Given the description of an element on the screen output the (x, y) to click on. 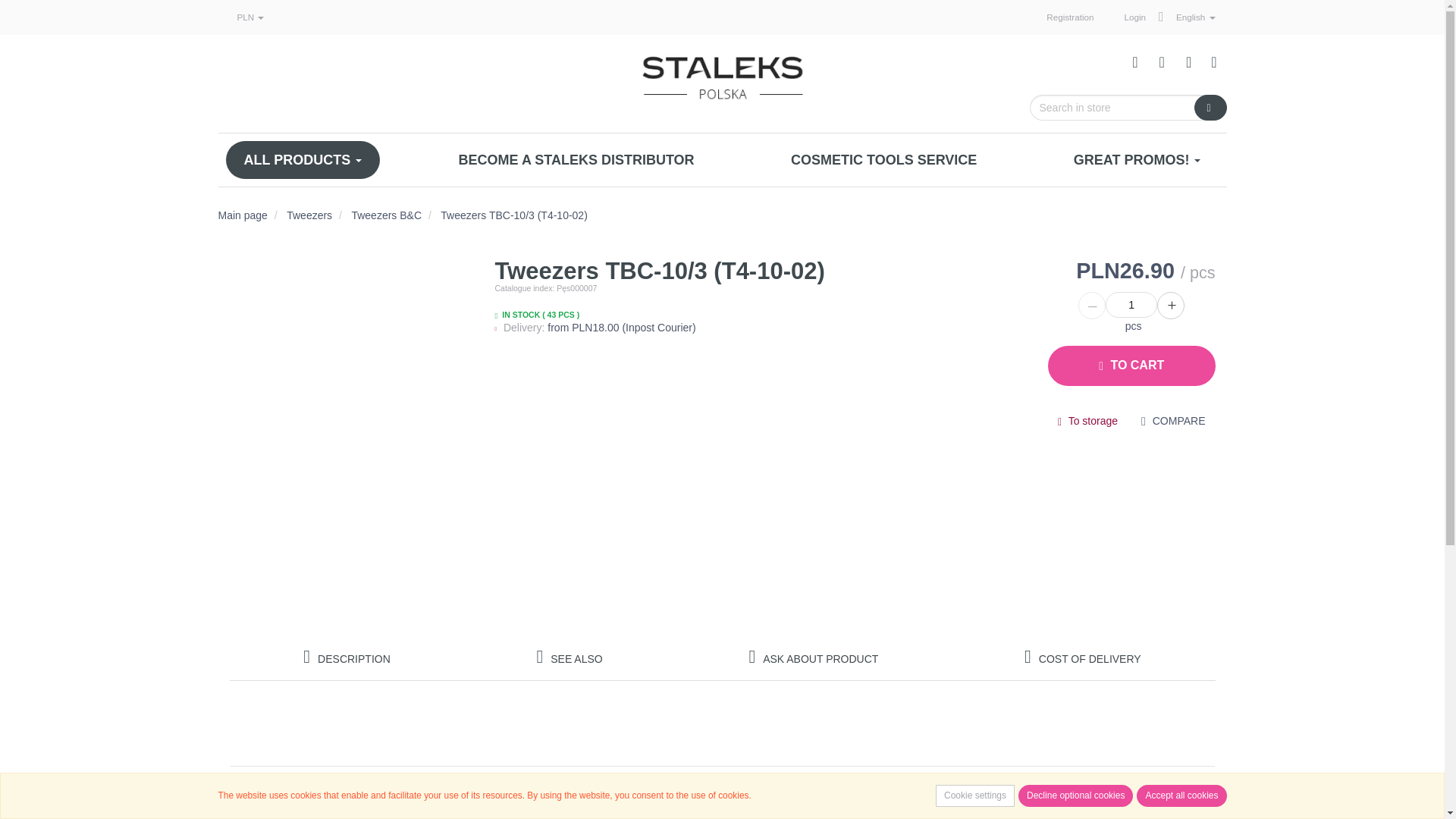
Product checker (1162, 59)
Search (1209, 107)
Become a STALEKS Distributor (577, 159)
ALL PRODUCTS (302, 159)
1 (1131, 304)
Login (1134, 16)
Storage (1188, 59)
on (1146, 421)
Login (1134, 59)
Registration (1070, 16)
